Given the description of an element on the screen output the (x, y) to click on. 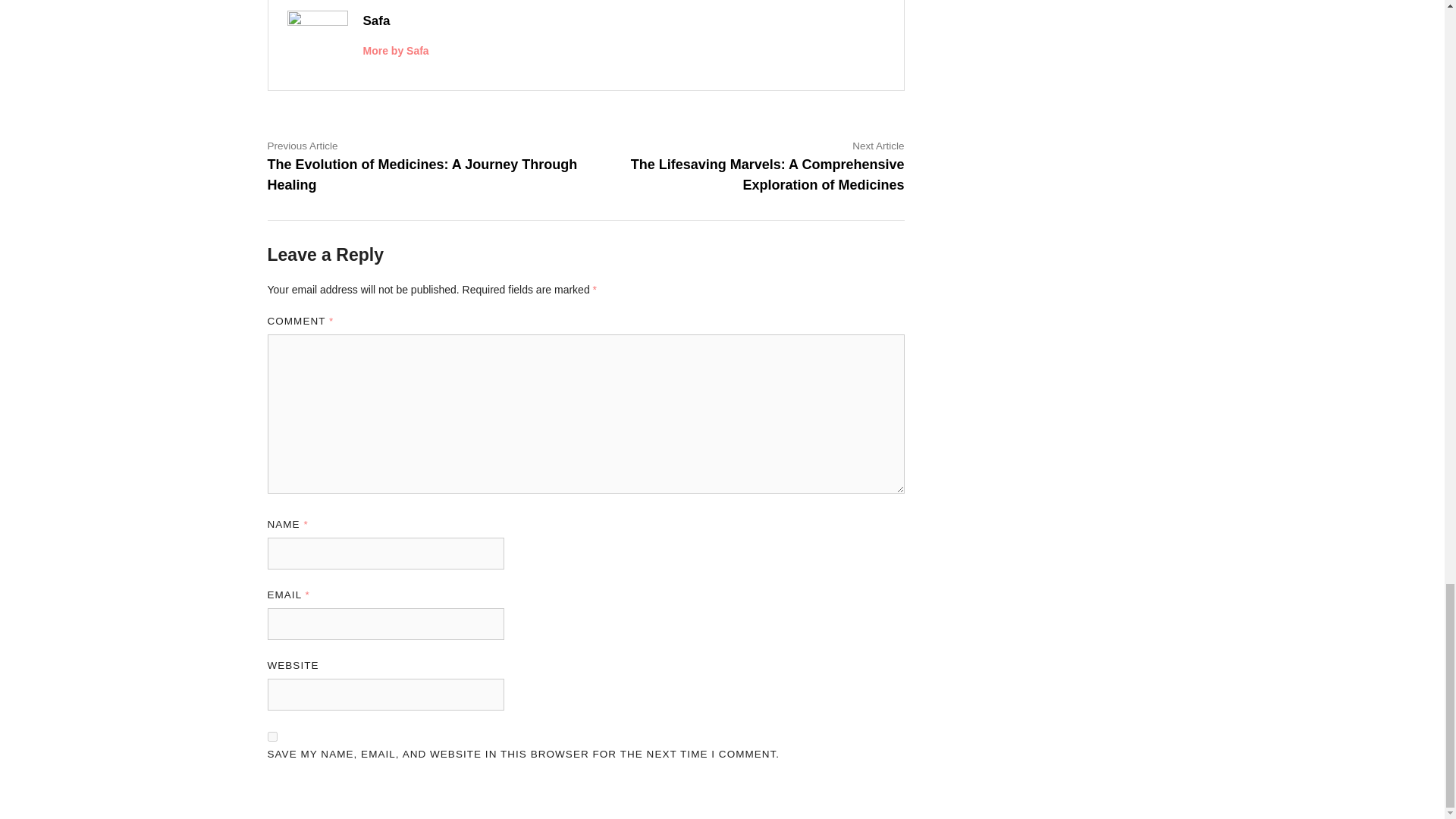
yes (271, 737)
More by Safa (395, 50)
Safa (376, 20)
